Given the description of an element on the screen output the (x, y) to click on. 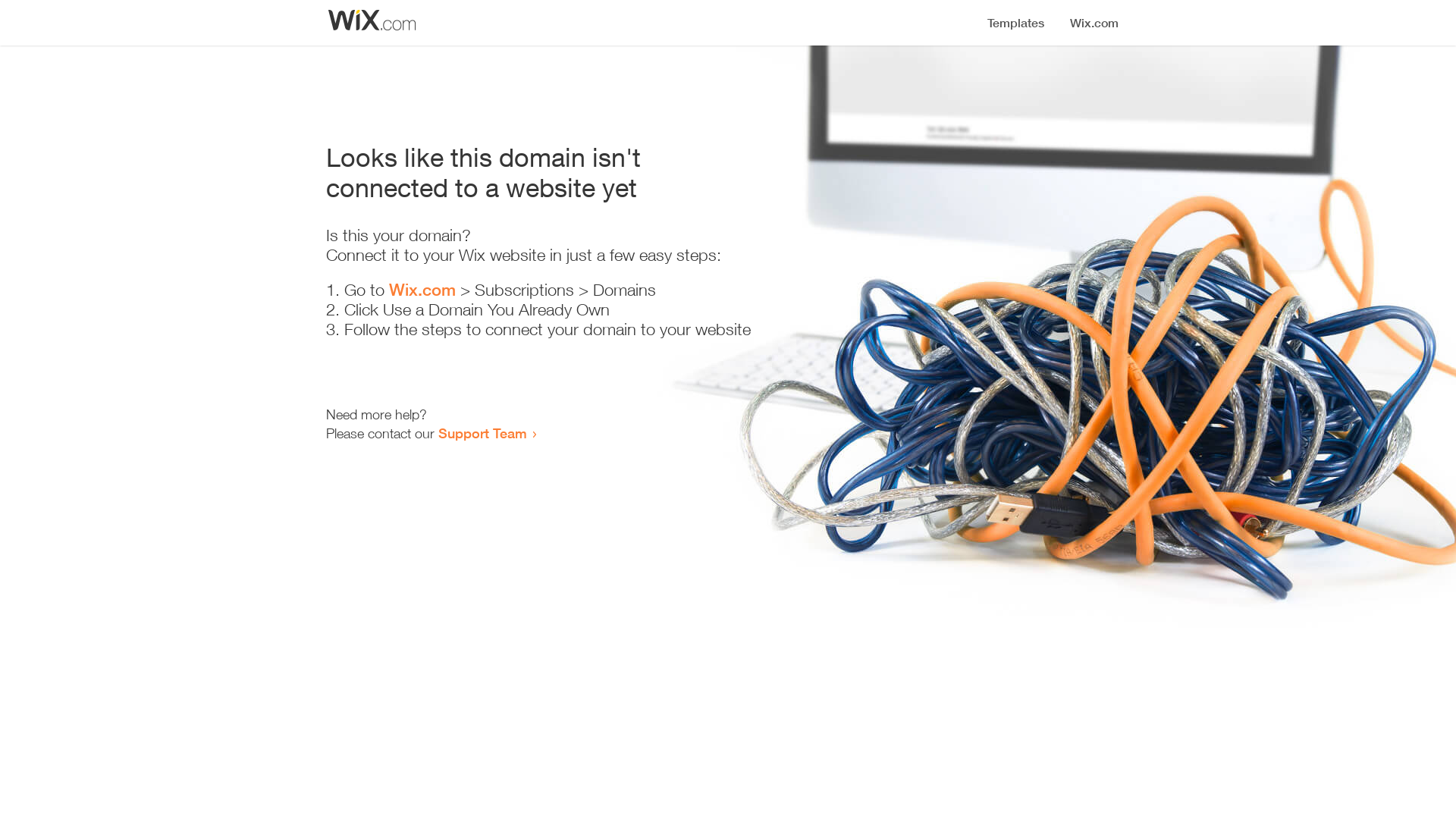
Wix.com Element type: text (422, 289)
Support Team Element type: text (482, 432)
